Given the description of an element on the screen output the (x, y) to click on. 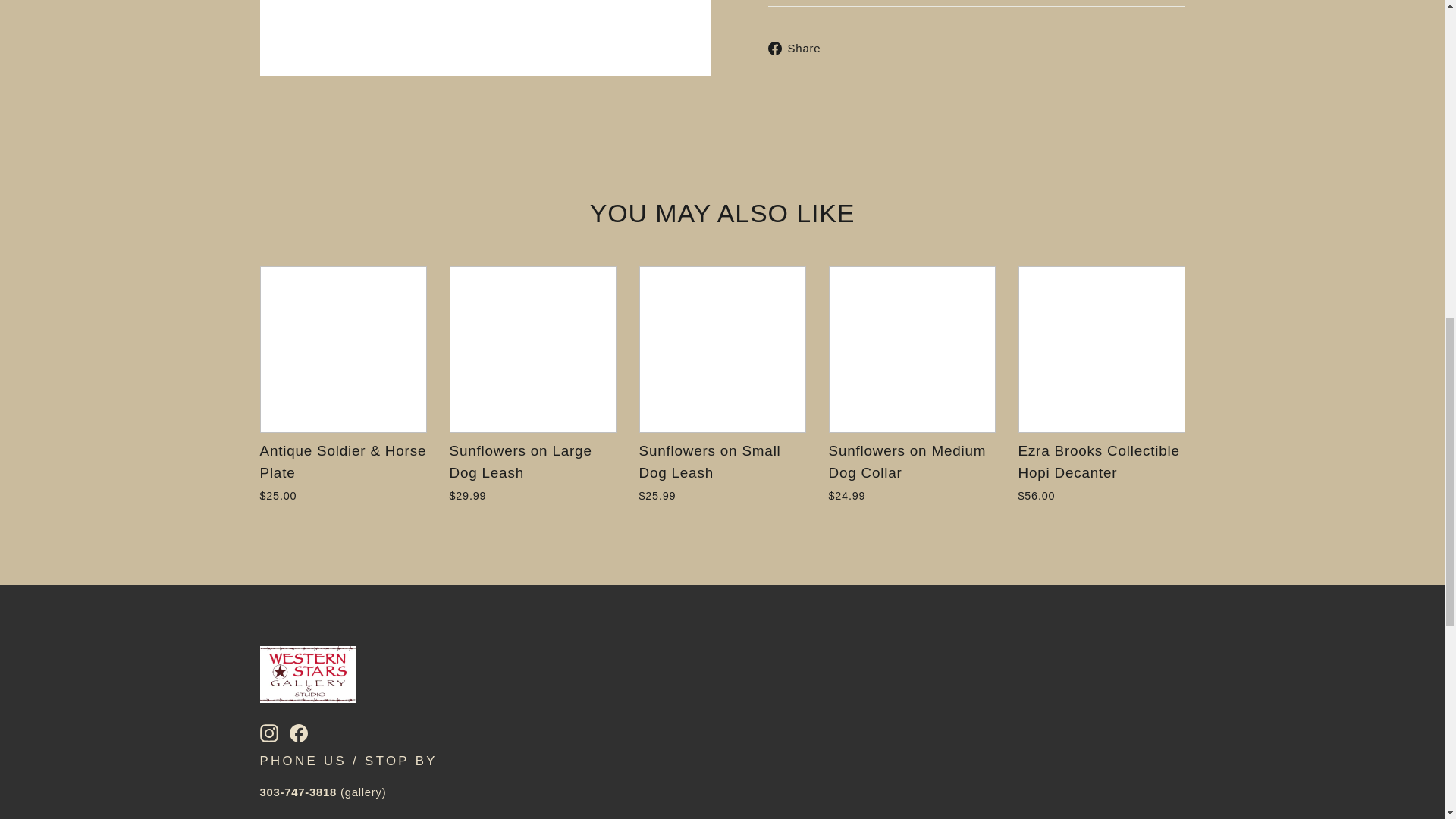
Western Stars Gallery and Studio on Instagram (268, 732)
Western Stars Gallery and Studio on Facebook (298, 732)
Share on Facebook (799, 46)
